Given the description of an element on the screen output the (x, y) to click on. 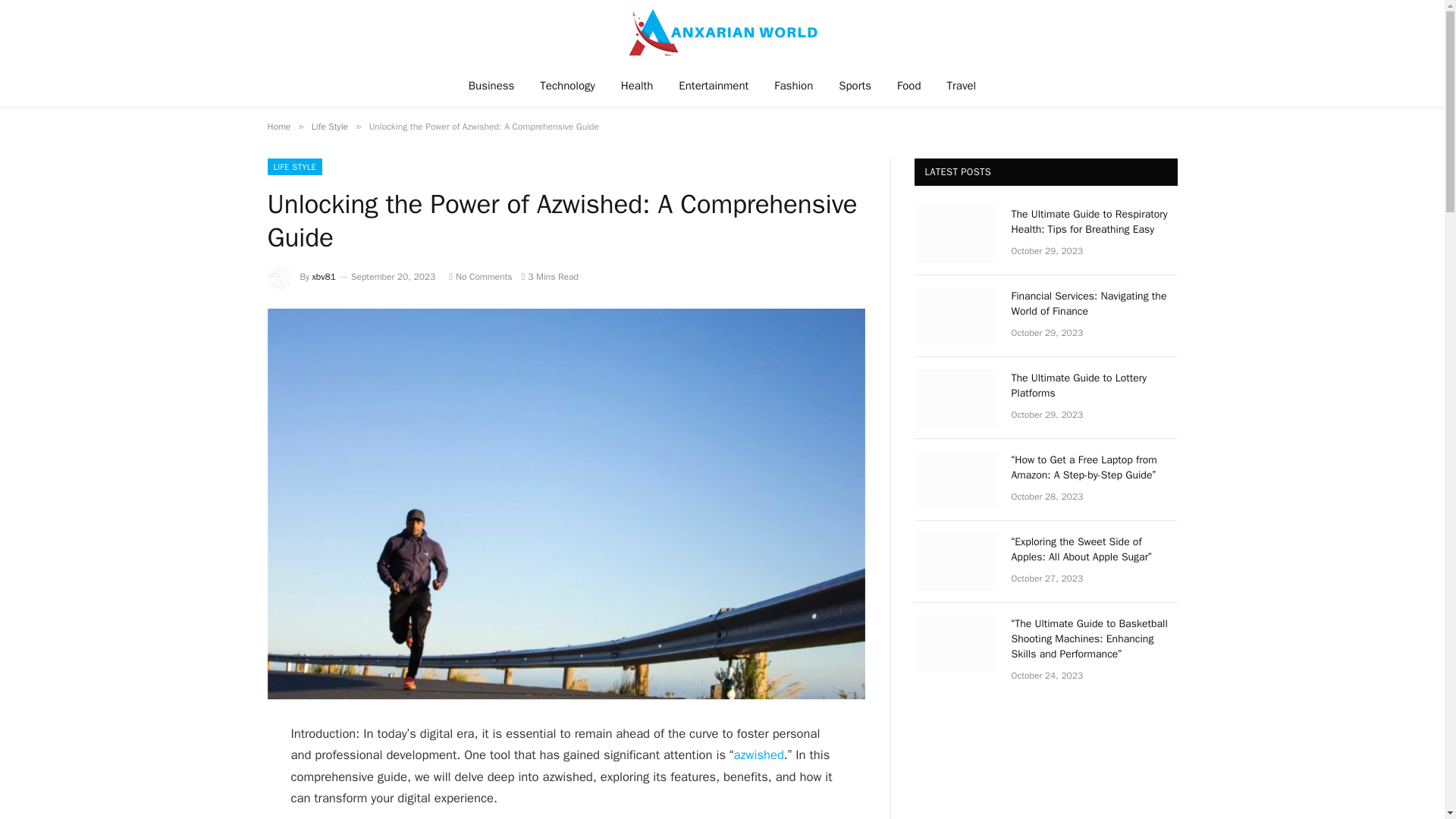
azwished (758, 754)
Financial Services: Navigating the World of Finance (1094, 304)
Fashion (793, 85)
Life Style (329, 126)
No Comments (480, 276)
Home (277, 126)
Health (637, 85)
Posts by xbv81 (324, 276)
Travel (962, 85)
